Given the description of an element on the screen output the (x, y) to click on. 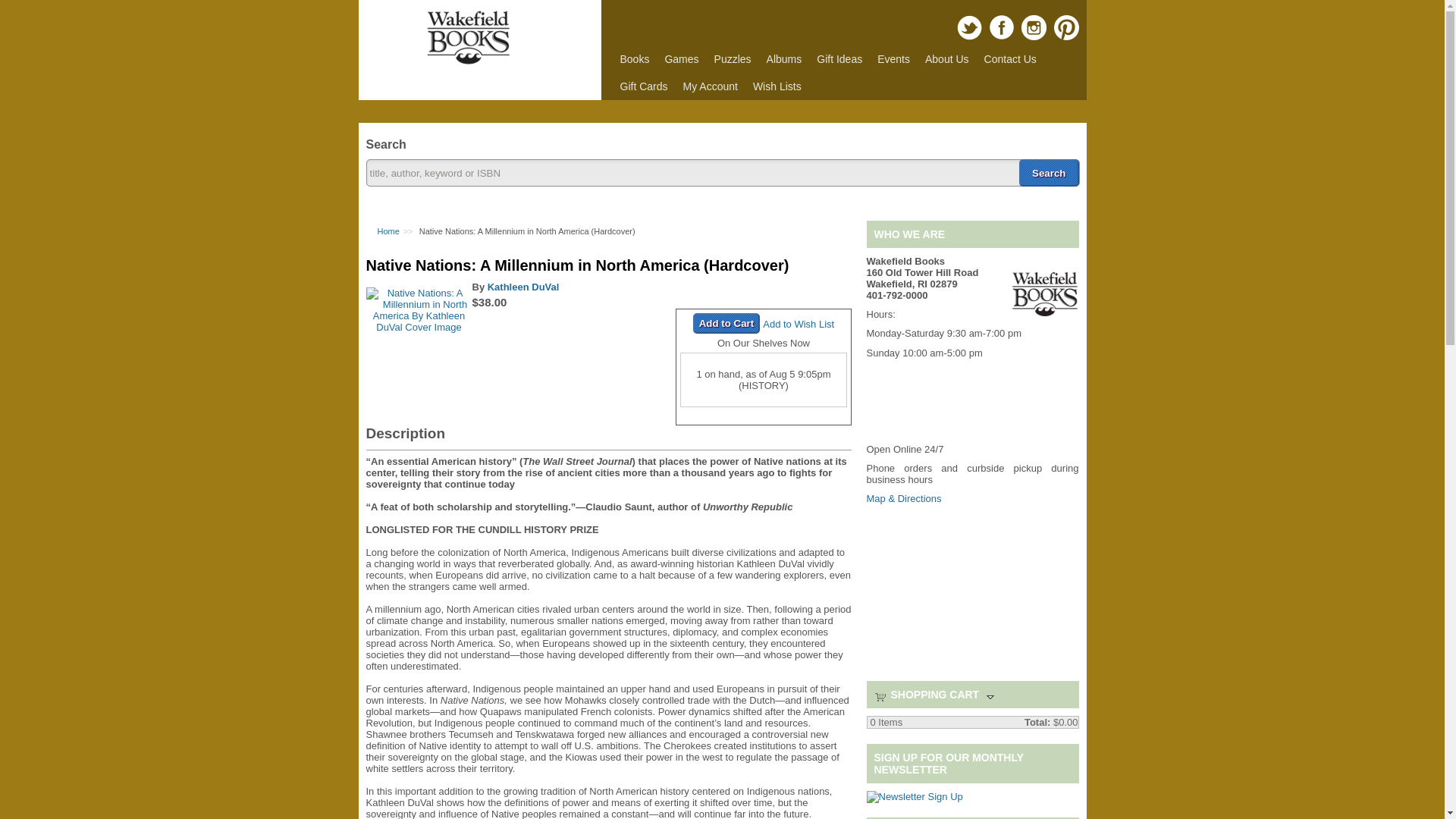
Wish List Search  (777, 85)
Gift Cards (643, 85)
Contact Us (1009, 58)
Albums (783, 58)
Add to Wish List (798, 324)
Puzzles (732, 58)
New Vinyl (783, 58)
Events (893, 58)
Wish Lists (777, 85)
Games (681, 58)
